Given the description of an element on the screen output the (x, y) to click on. 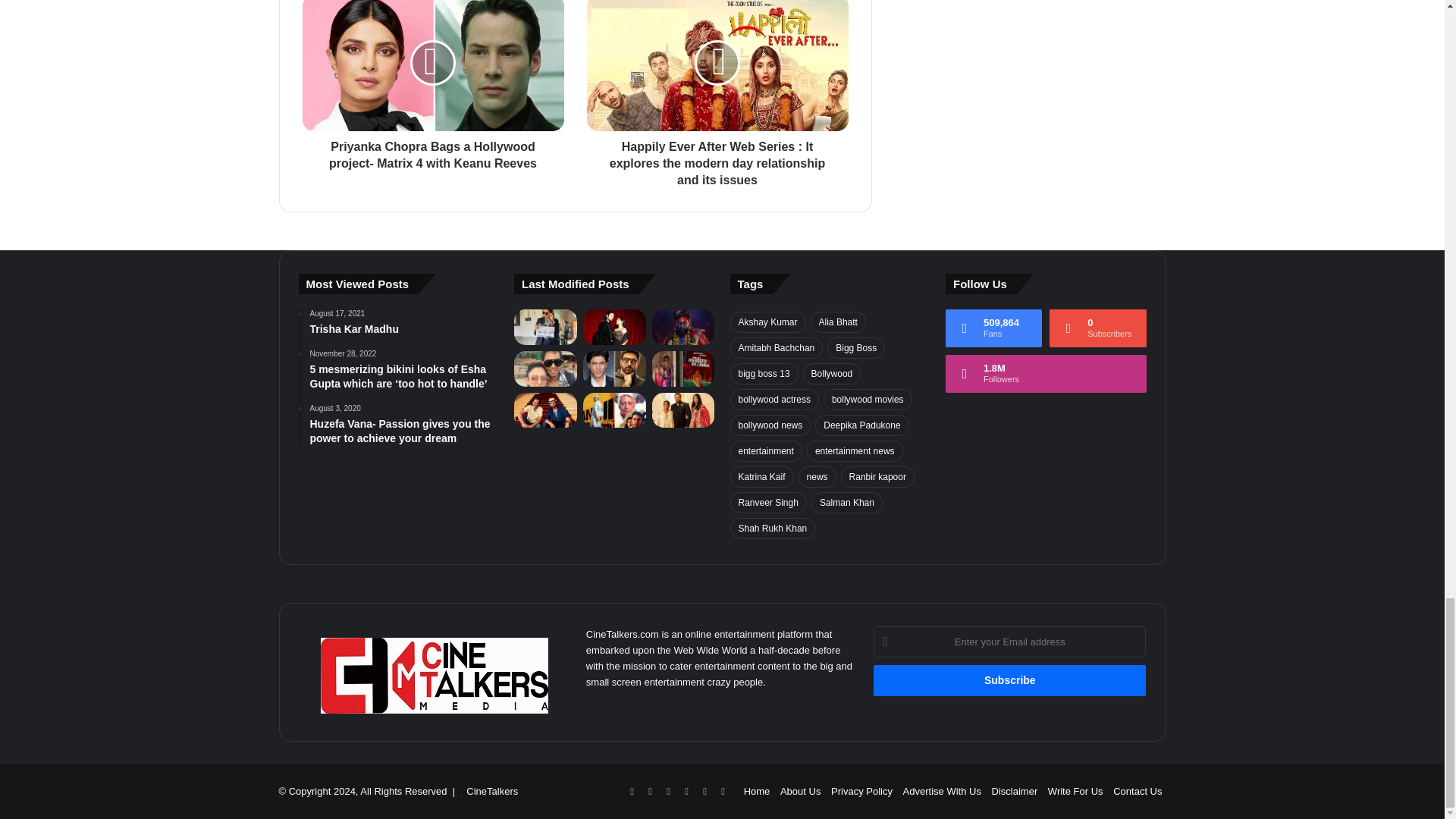
Subscribe (1009, 680)
